Given the description of an element on the screen output the (x, y) to click on. 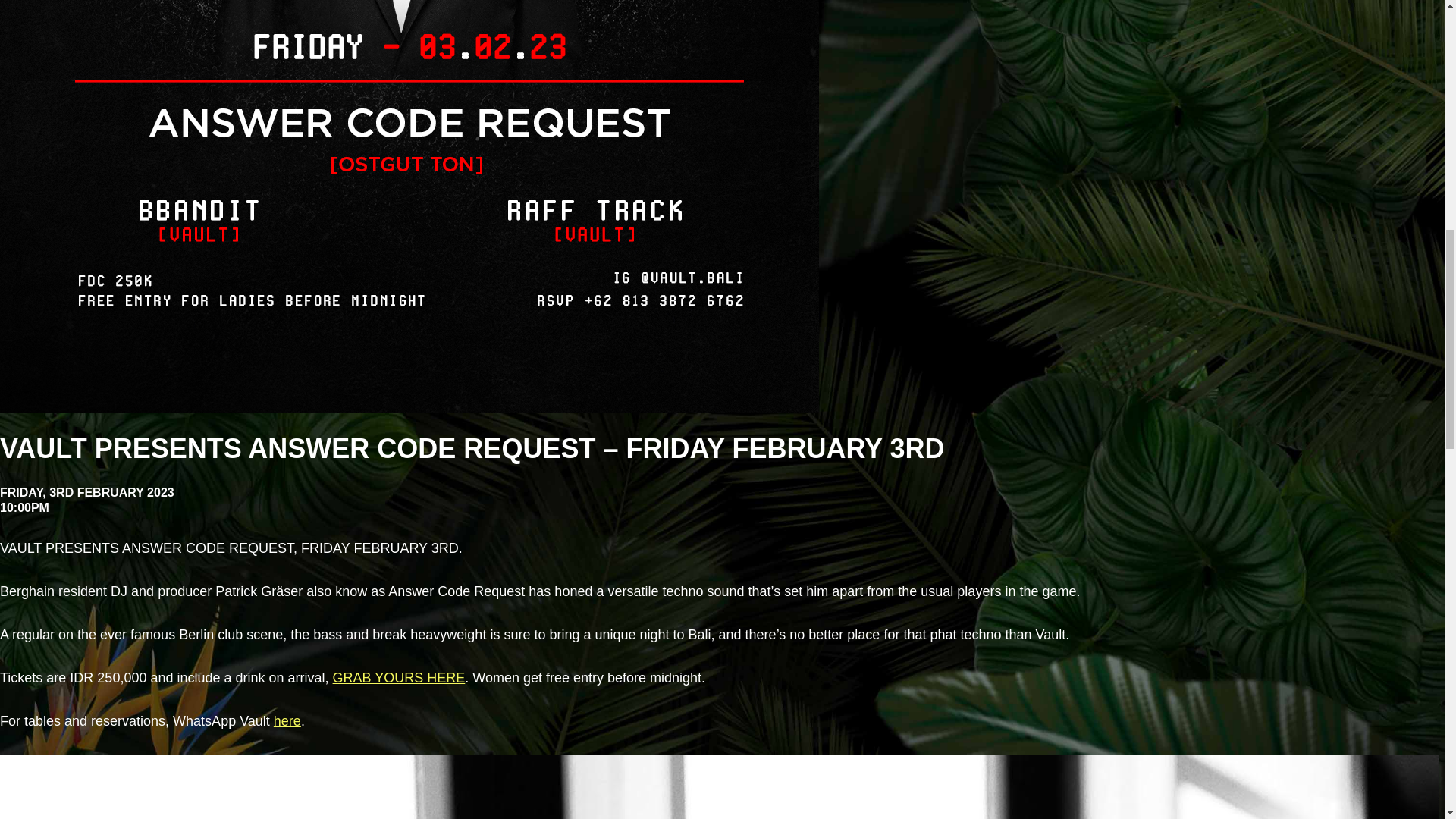
here (287, 720)
GRAB YOURS HERE (399, 677)
